Given the description of an element on the screen output the (x, y) to click on. 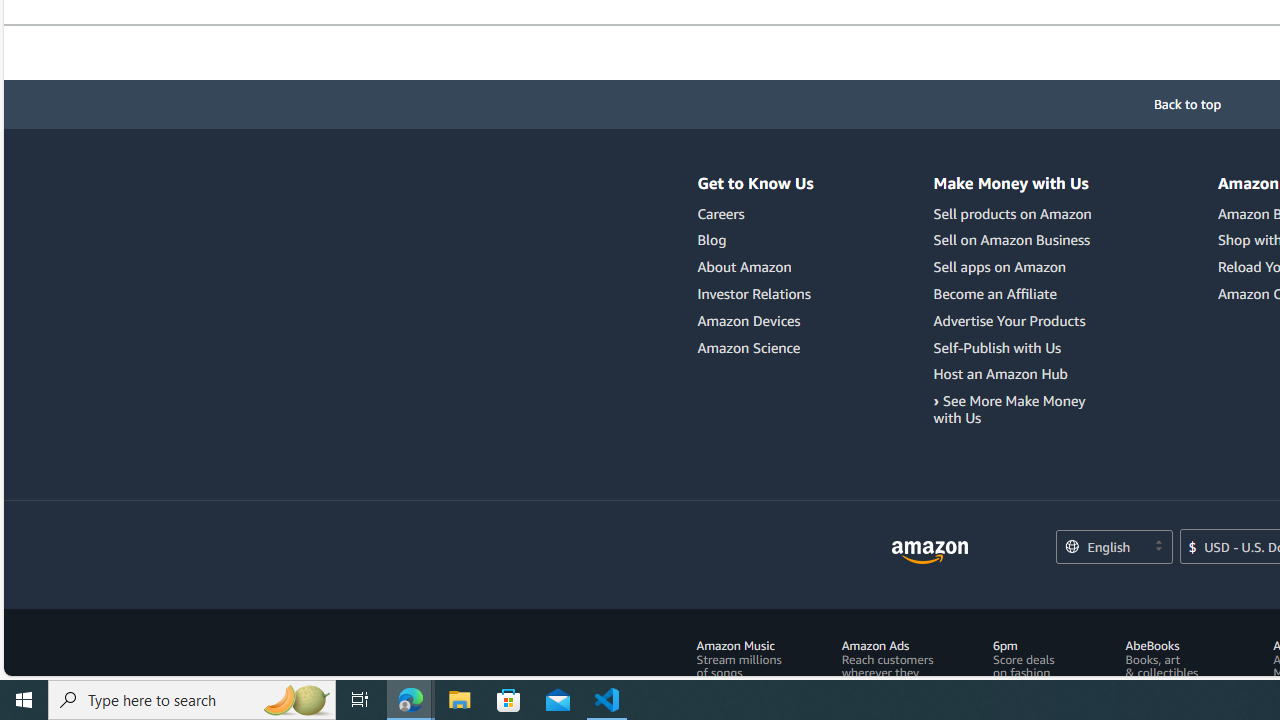
Host an Amazon Hub (1015, 374)
Sell on Amazon Business (1011, 240)
Blog (712, 240)
AbeBooks Books, art & collectibles (1162, 659)
Advertise Your Products (1015, 320)
Blog (755, 240)
See More Make Money with Us (1009, 408)
Investor Relations (754, 293)
Amazon Science (749, 347)
Amazon Devices (755, 320)
Self-Publish with Us (1015, 348)
Sell products on Amazon (1012, 213)
Host an Amazon Hub (1000, 374)
See More Make Money with Us (1015, 409)
Sell apps on Amazon (1015, 267)
